Given the description of an element on the screen output the (x, y) to click on. 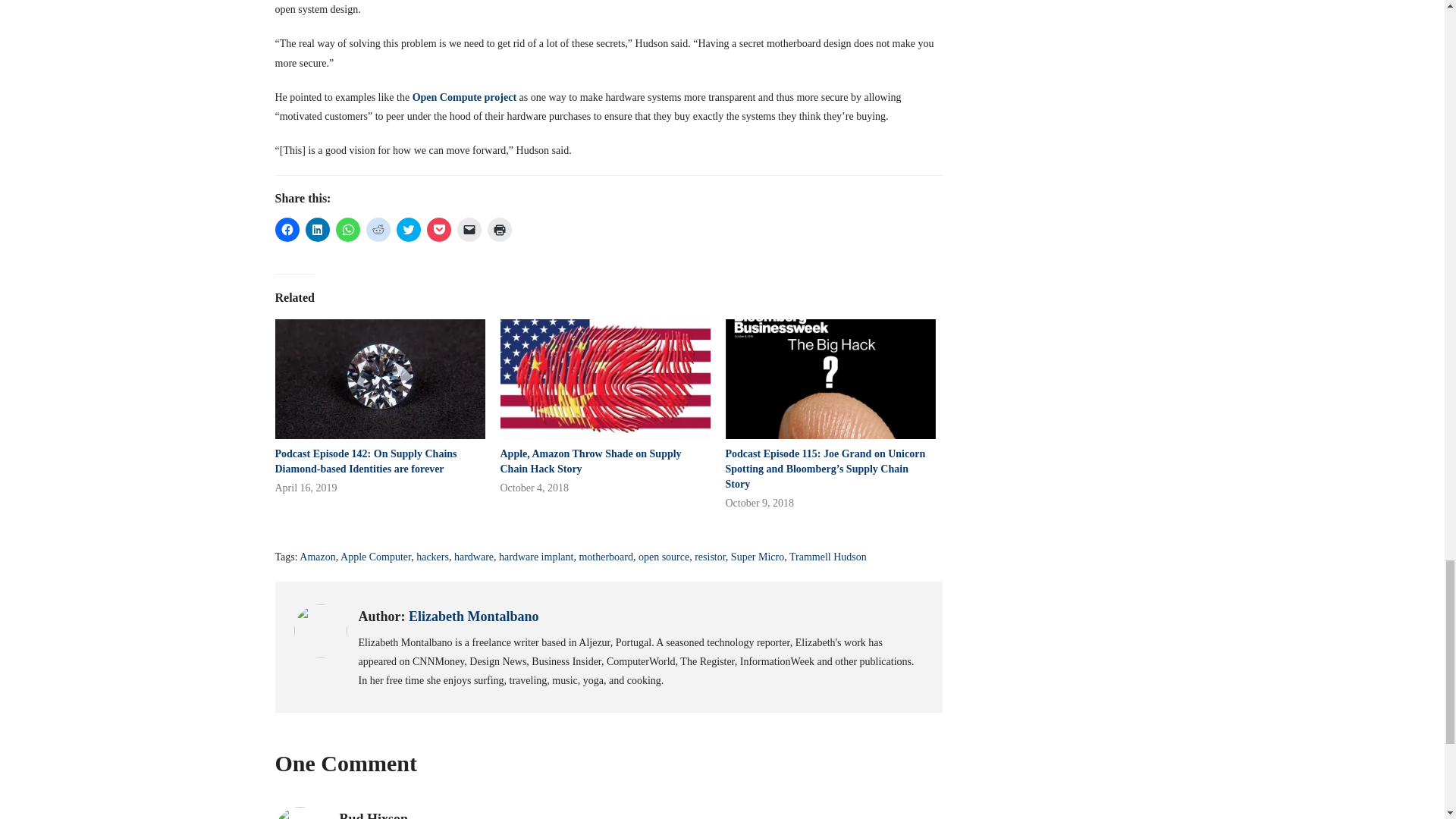
Click to share on LinkedIn (316, 229)
Click to share on Facebook (286, 229)
